Given the description of an element on the screen output the (x, y) to click on. 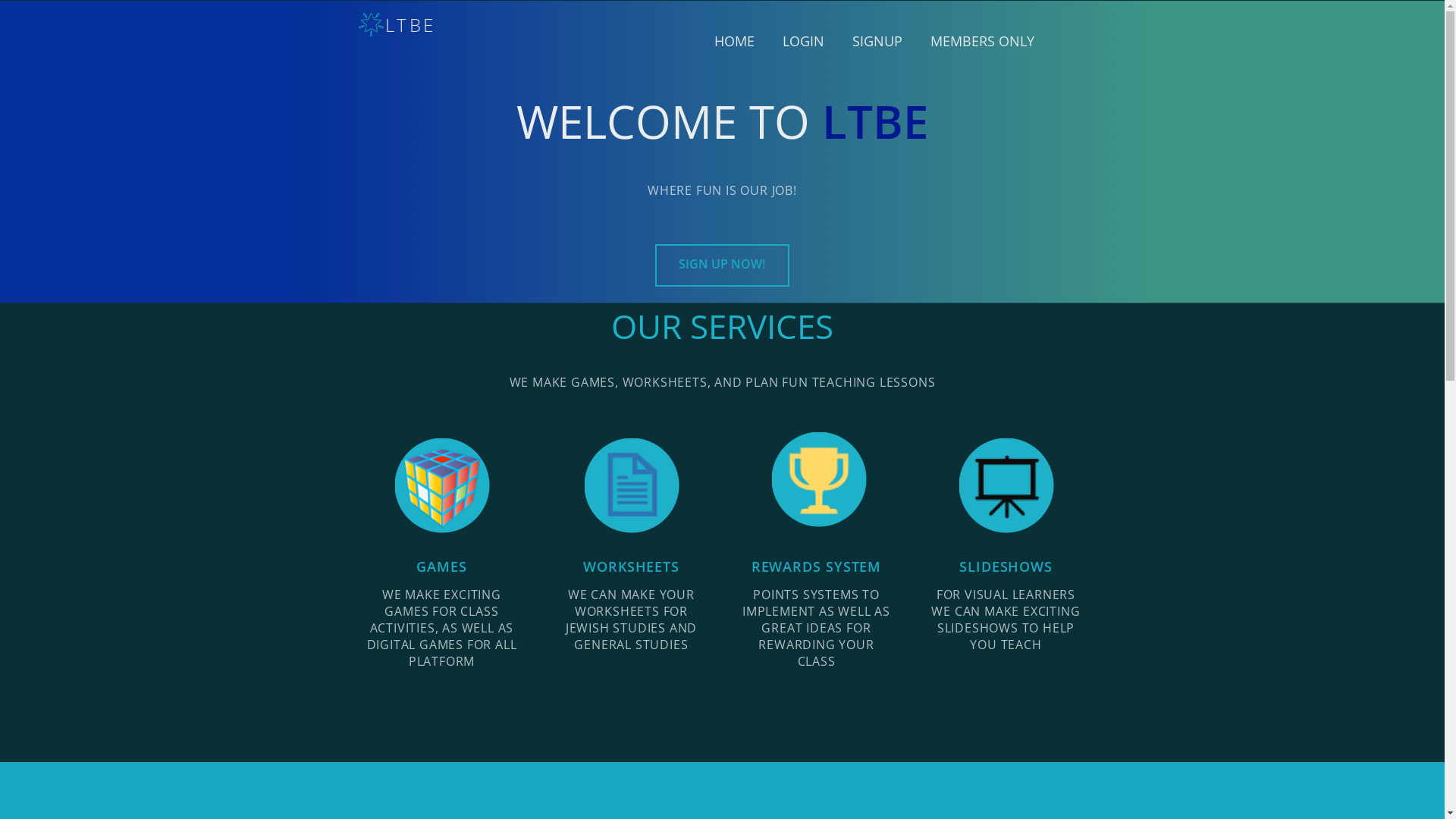
HOME Element type: text (734, 40)
SIGNUP Element type: text (876, 40)
MEMBERS ONLY Element type: text (981, 40)
LOGIN Element type: text (803, 40)
